Given the description of an element on the screen output the (x, y) to click on. 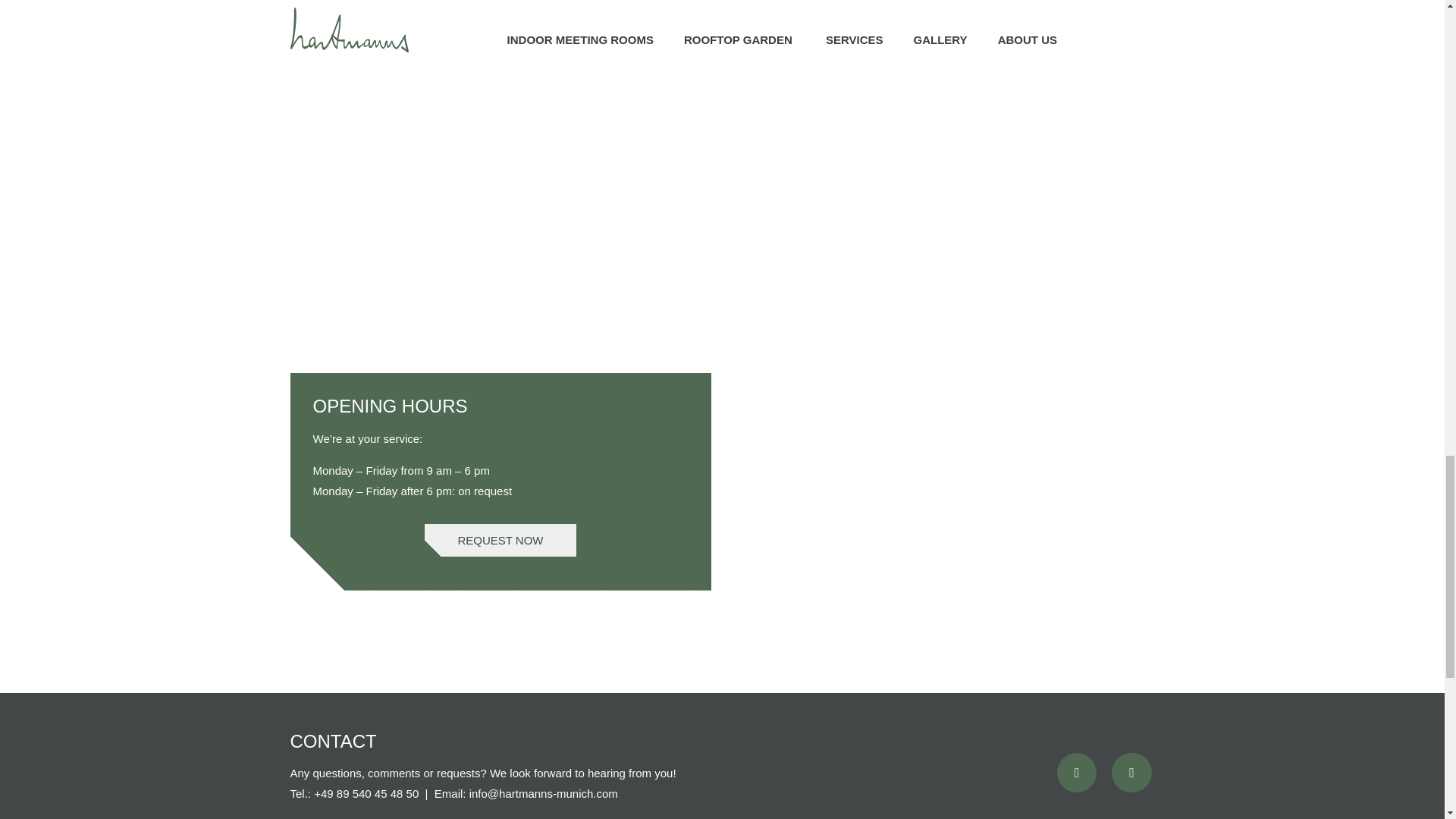
REQUEST NOW (500, 540)
